Given the description of an element on the screen output the (x, y) to click on. 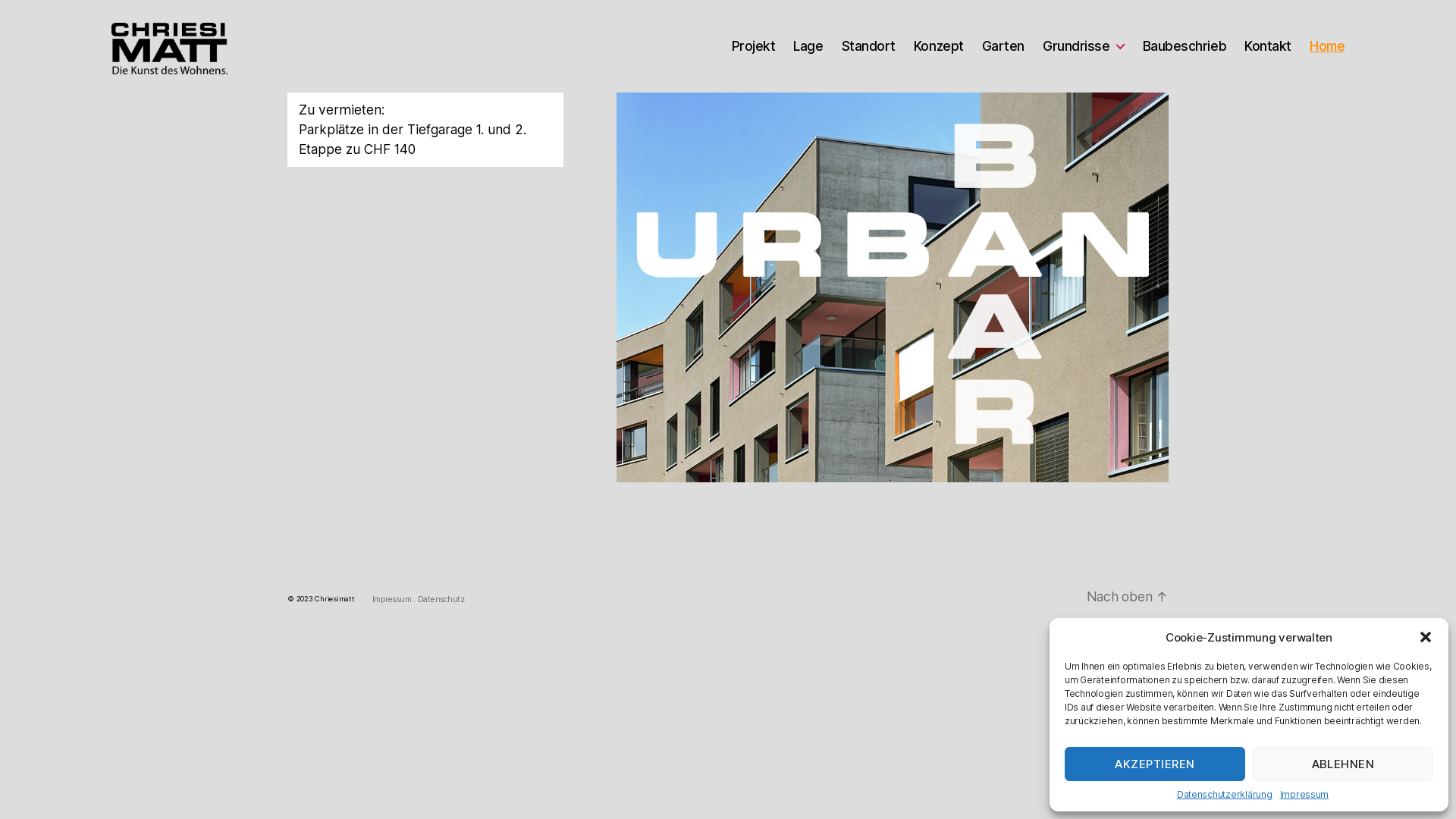
Datenschutz Element type: text (440, 599)
Kontakt Element type: text (1267, 45)
Garten Element type: text (1003, 45)
AKZEPTIEREN Element type: text (1154, 763)
Home Element type: text (1326, 45)
ABLEHNEN Element type: text (1342, 763)
Baubeschrieb Element type: text (1184, 45)
Konzept Element type: text (938, 45)
Impressum Element type: text (392, 599)
Lage Element type: text (807, 45)
Grundrisse Element type: text (1083, 45)
Chriesimatt Element type: text (334, 598)
Standort Element type: text (868, 45)
Projekt Element type: text (753, 45)
Impressum Element type: text (1304, 794)
